Given the description of an element on the screen output the (x, y) to click on. 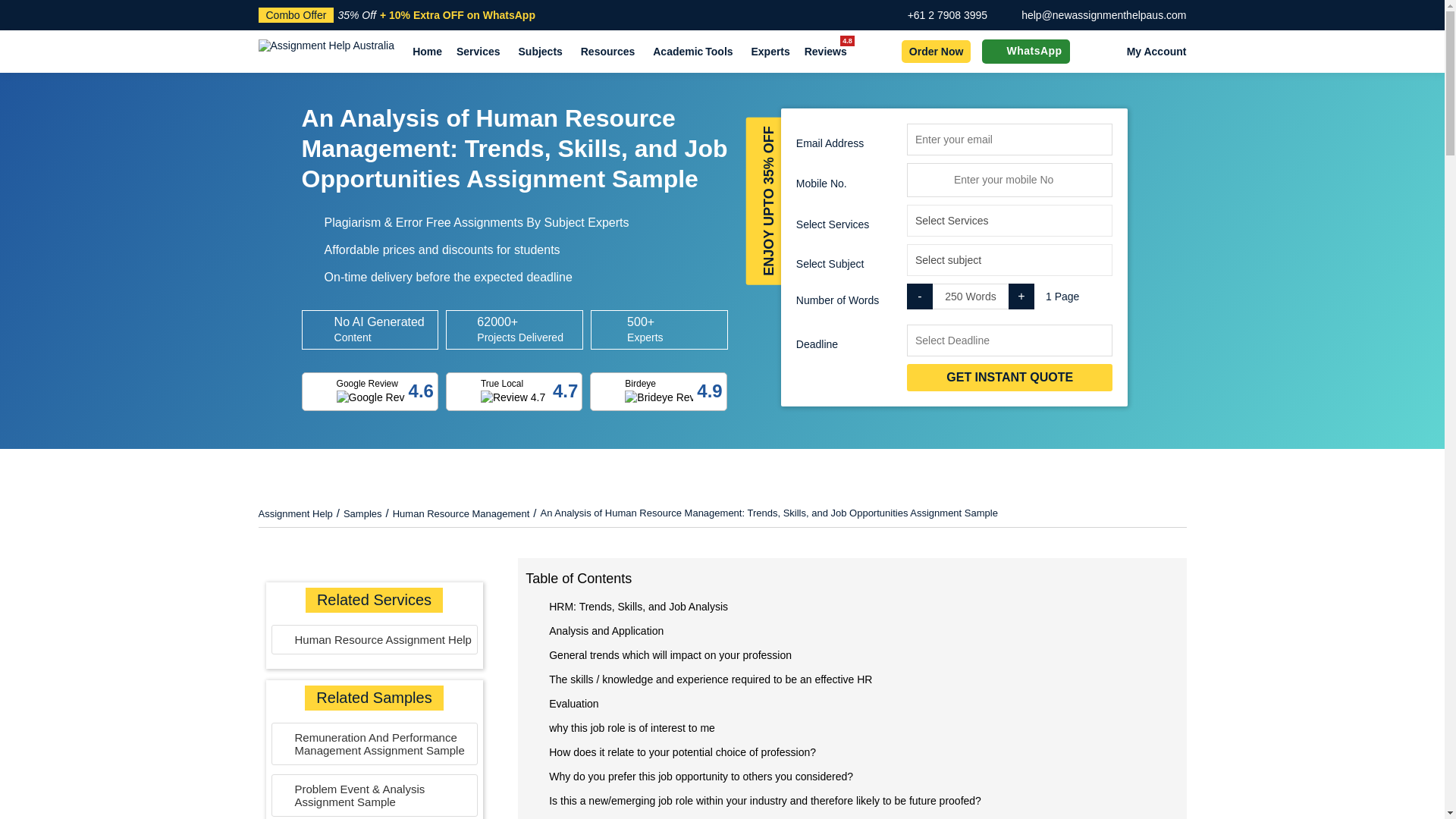
Human Resource Assignment Help (373, 643)
Assignment Subject (1009, 260)
Number of Words (971, 296)
Order Now (936, 51)
WhatsApp Order (996, 51)
250 Words (971, 296)
Order Now (372, 569)
Live Chat on WhatsApp (53, 765)
Combo Offer (295, 14)
Email Id (1009, 138)
